Given the description of an element on the screen output the (x, y) to click on. 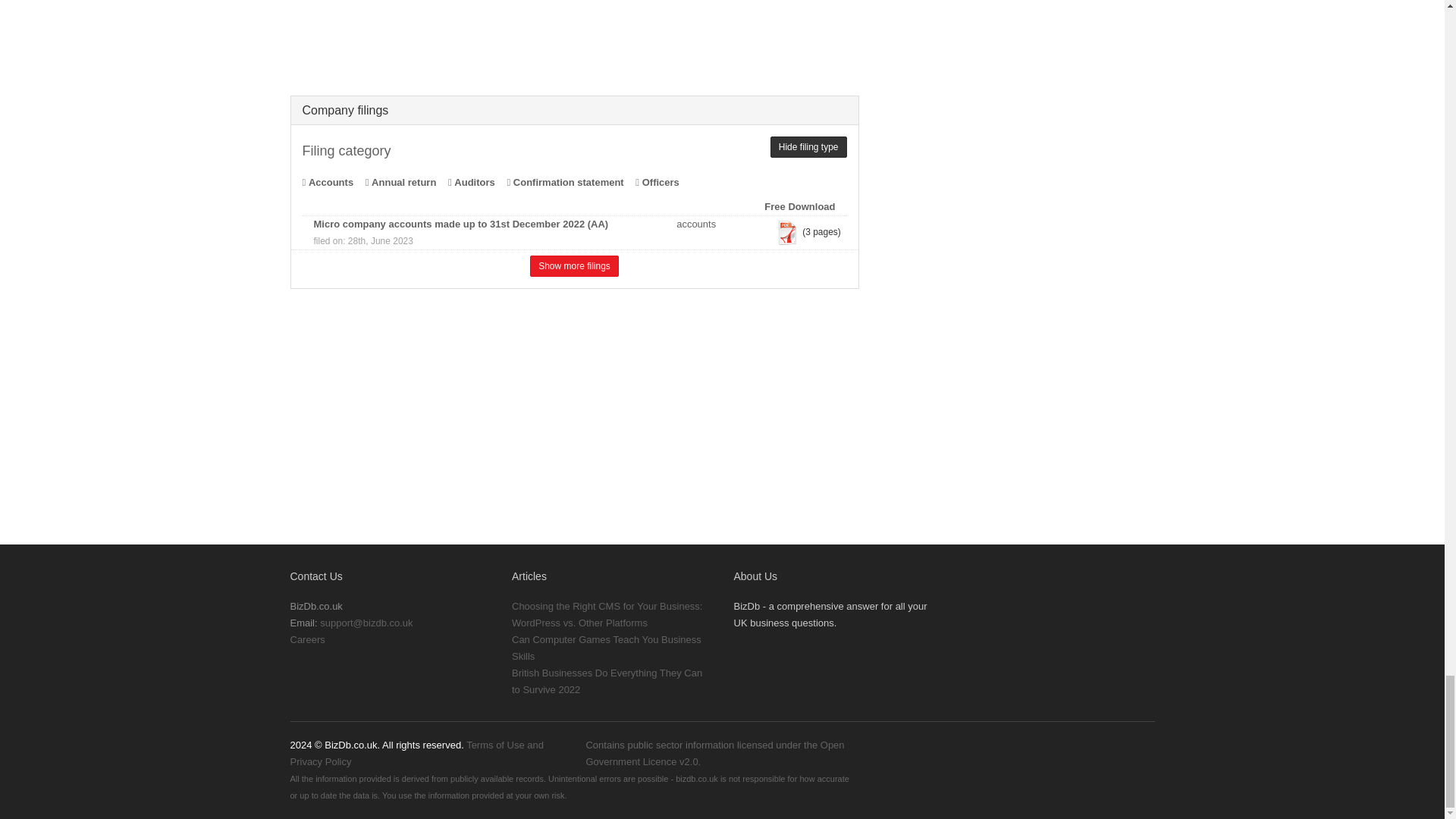
Show more filings (573, 265)
